Given the description of an element on the screen output the (x, y) to click on. 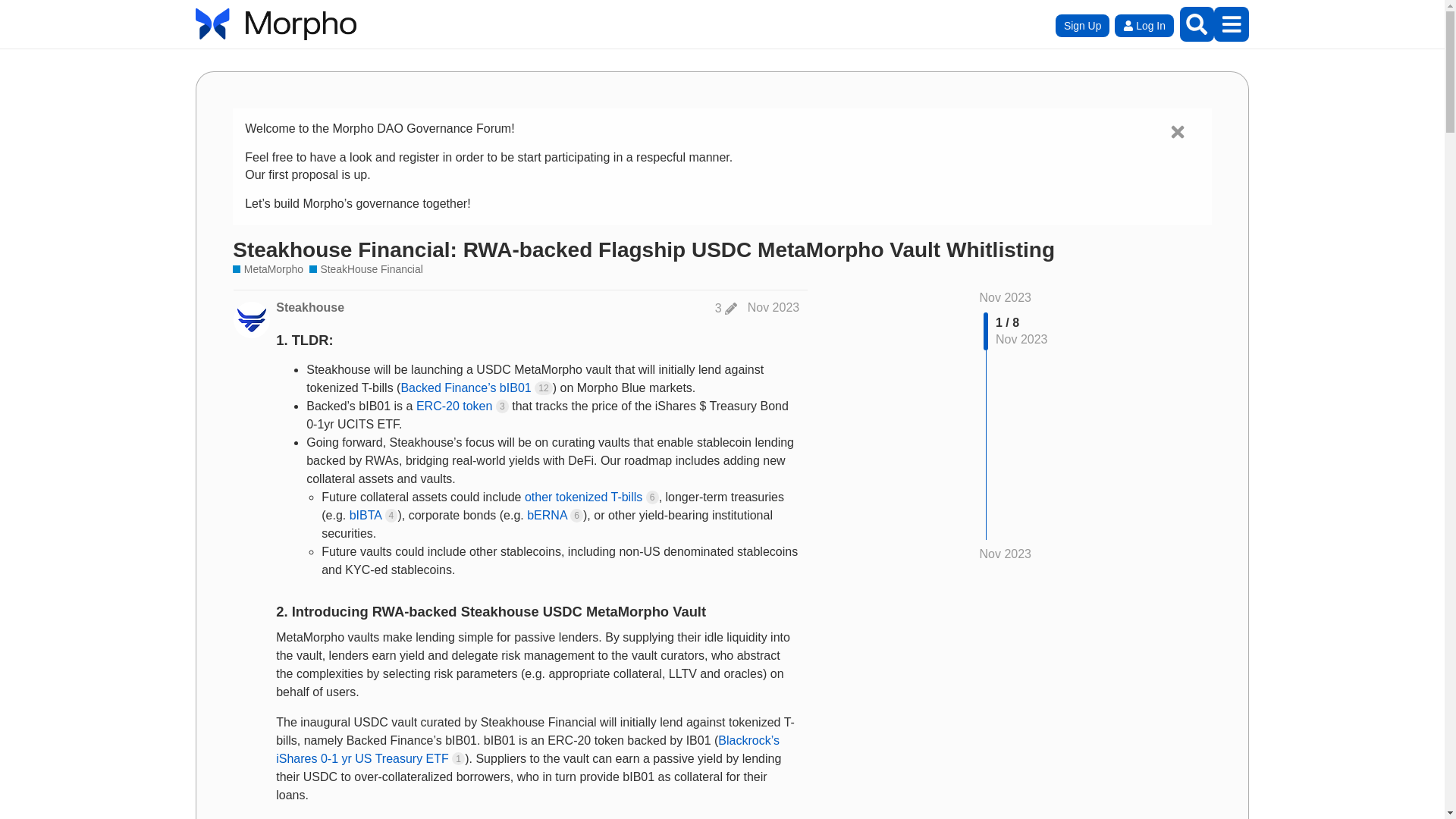
MetaMorpho (267, 269)
menu (1230, 23)
ERC-20 token 3 (462, 405)
other tokenized T-bills 6 (591, 496)
Steakhouse (309, 307)
Post date (773, 307)
bIBTA 4 (373, 514)
SteakHouse Financial (365, 269)
6 clicks (652, 496)
